Given the description of an element on the screen output the (x, y) to click on. 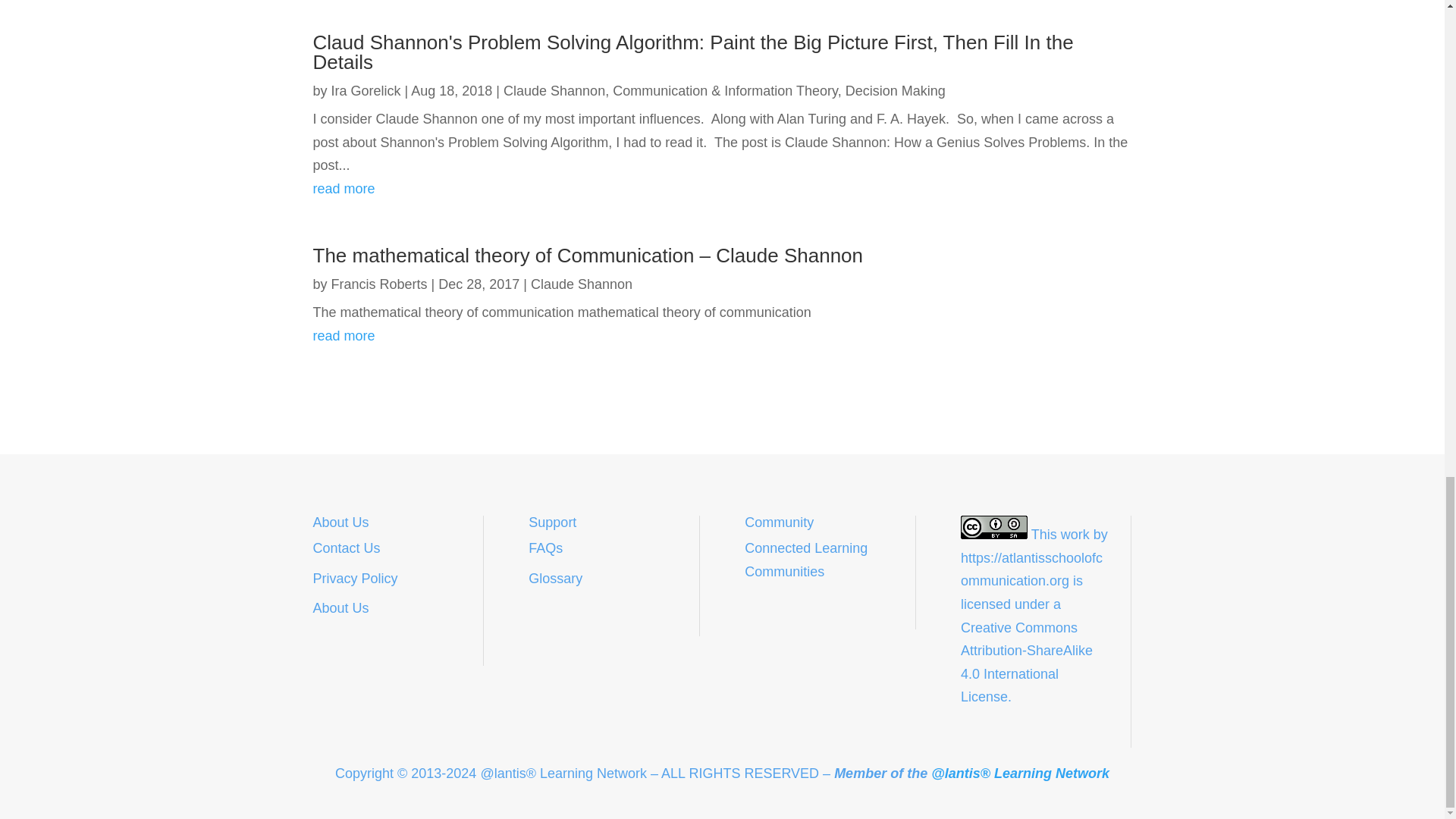
Posts by Francis Roberts (379, 283)
Posts by Ira Gorelick (366, 90)
